Given the description of an element on the screen output the (x, y) to click on. 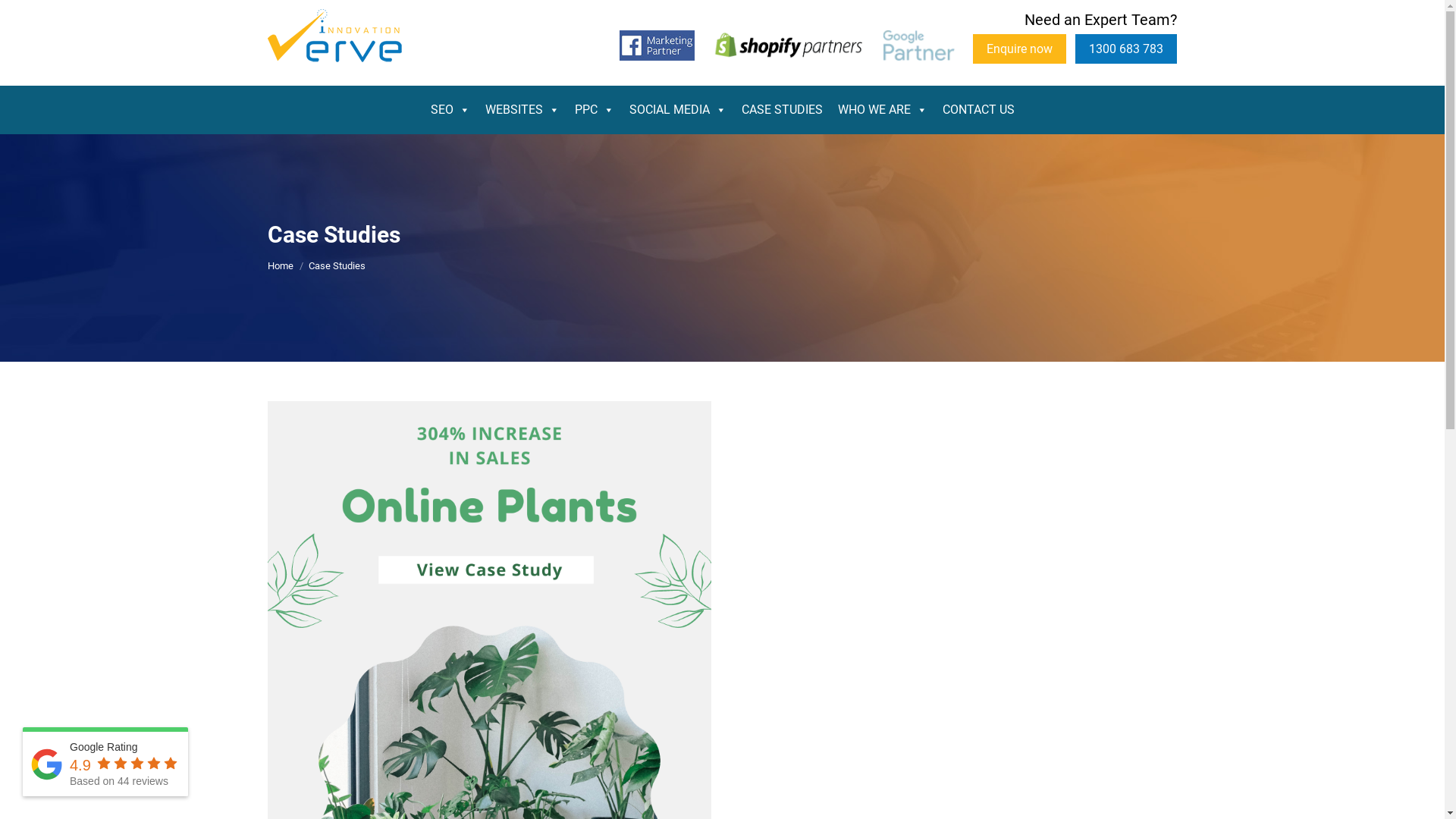
SOCIAL MEDIA Element type: text (677, 109)
SEO Element type: text (450, 109)
PPC Element type: text (594, 109)
Home Element type: text (279, 264)
1300 683 783 Element type: text (1125, 47)
Enquire now Element type: text (1019, 47)
CASE STUDIES Element type: text (782, 109)
WEBSITES Element type: text (522, 109)
CONTACT US Element type: text (977, 109)
WHO WE ARE Element type: text (881, 109)
